Given the description of an element on the screen output the (x, y) to click on. 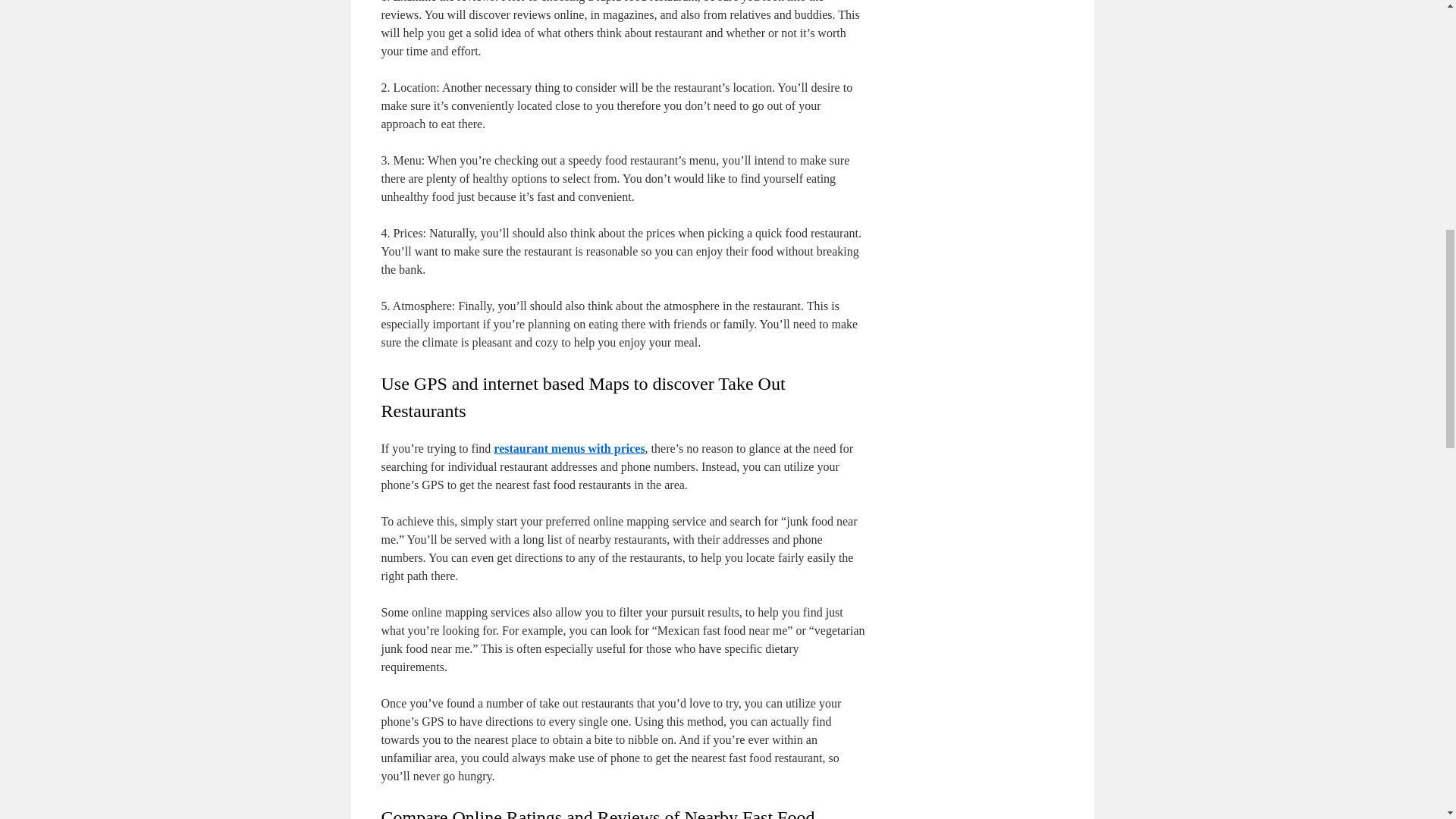
restaurant menus with prices (569, 448)
